Given the description of an element on the screen output the (x, y) to click on. 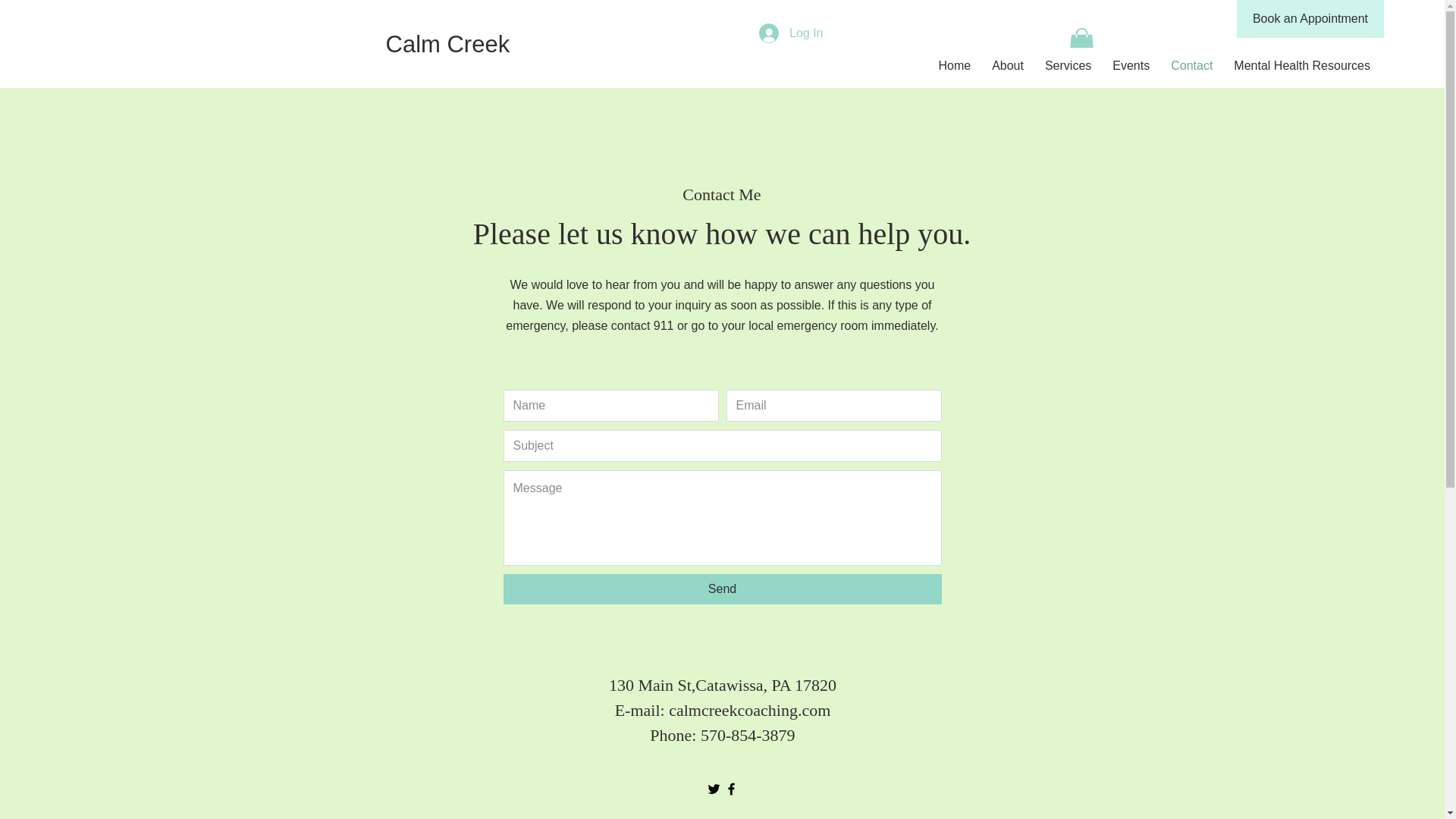
Services (1067, 65)
Send (722, 589)
Log In (790, 32)
Home (954, 65)
Events (1131, 65)
About (1007, 65)
Contact (1191, 65)
Mental Health Resources (1301, 65)
Book an Appointment (1310, 18)
